Given the description of an element on the screen output the (x, y) to click on. 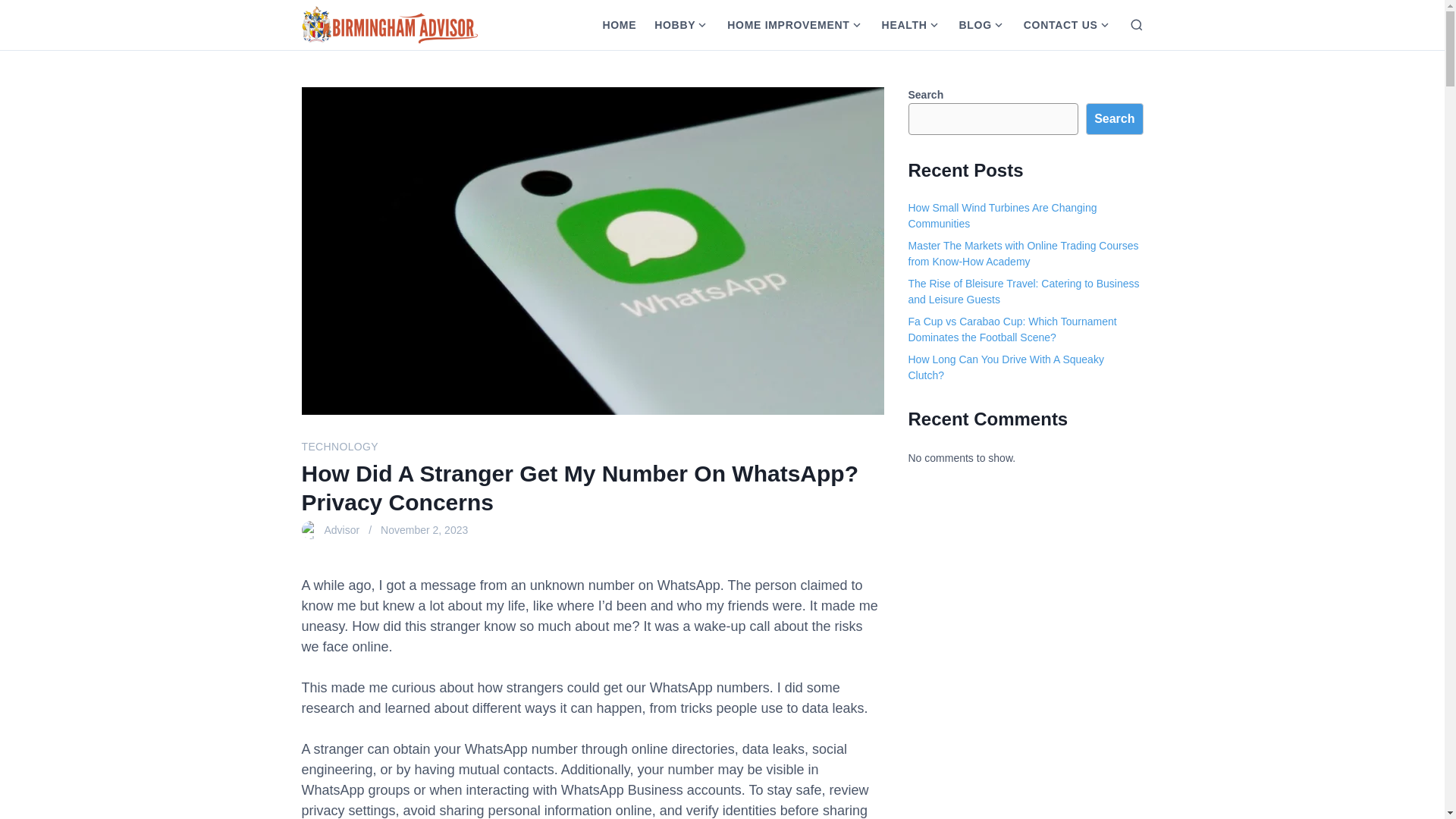
CONTACT US (1055, 24)
Advisor (341, 529)
BLOG (970, 24)
HOME (618, 24)
HOME IMPROVEMENT (782, 24)
Search (1114, 119)
HOBBY (670, 24)
TECHNOLOGY (339, 446)
HEALTH (899, 24)
